Given the description of an element on the screen output the (x, y) to click on. 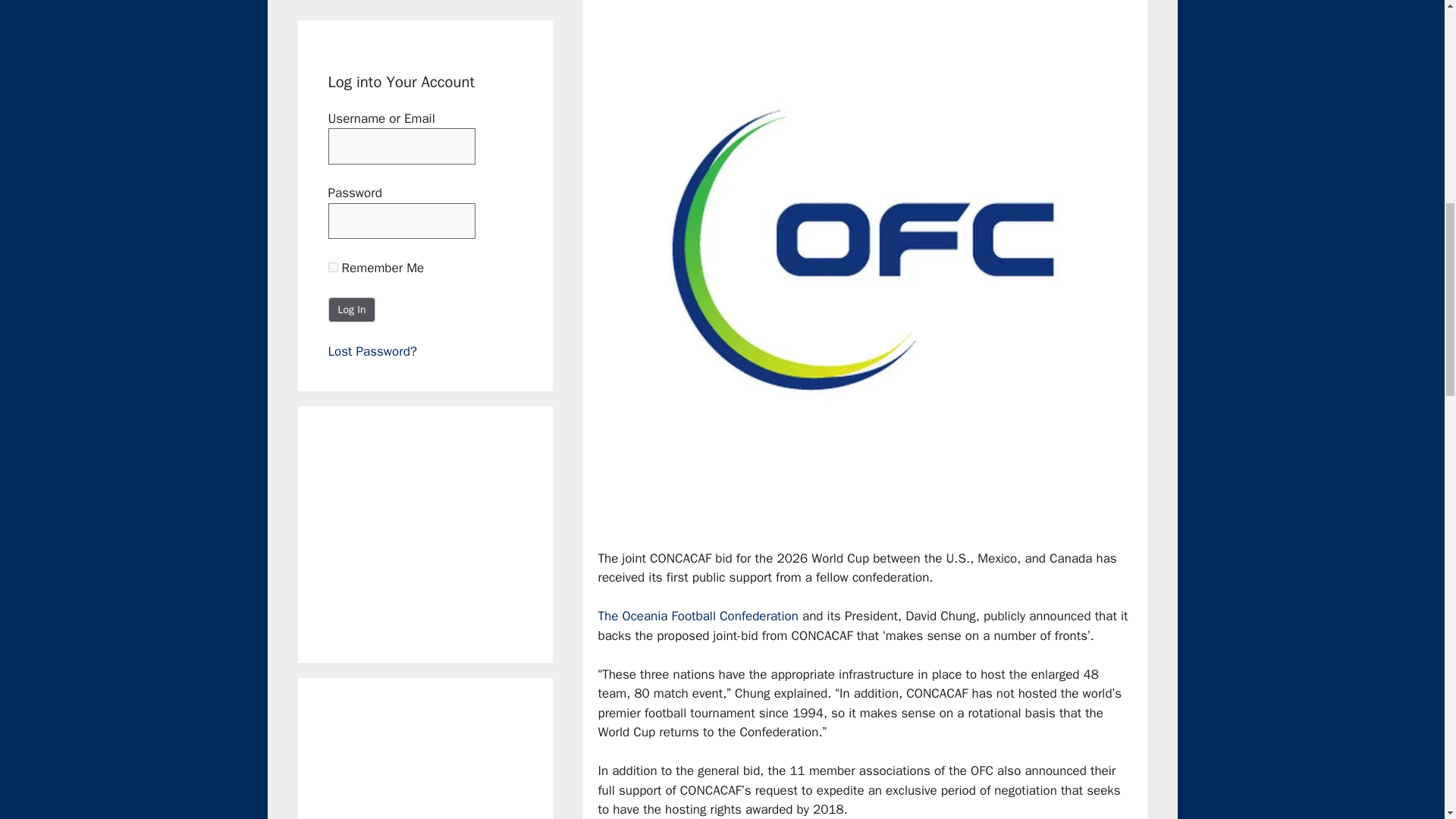
Advertisement (440, 763)
forever (332, 266)
Advertisement (440, 531)
Log In (351, 309)
